Given the description of an element on the screen output the (x, y) to click on. 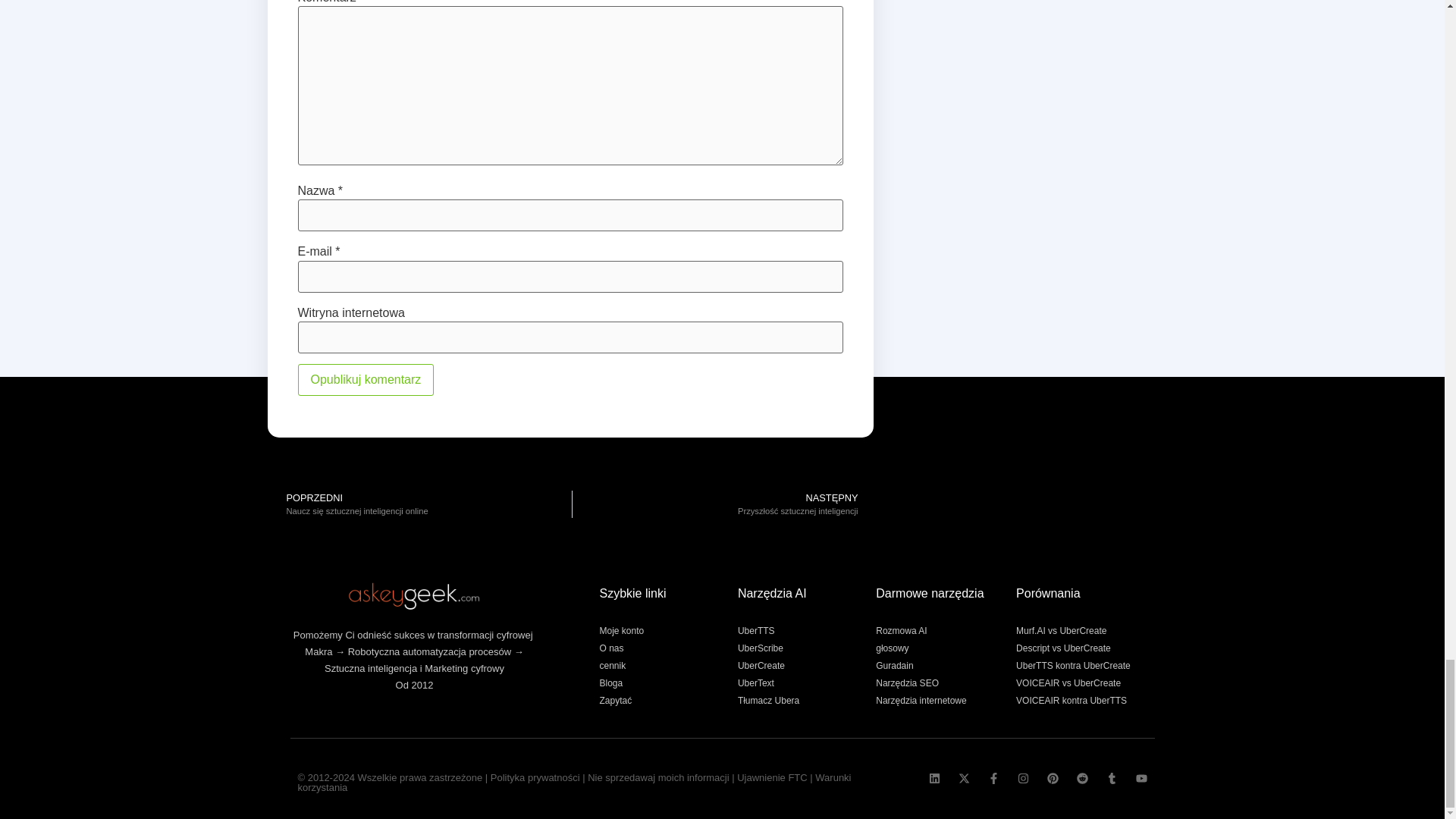
Opublikuj komentarz (365, 379)
